Given the description of an element on the screen output the (x, y) to click on. 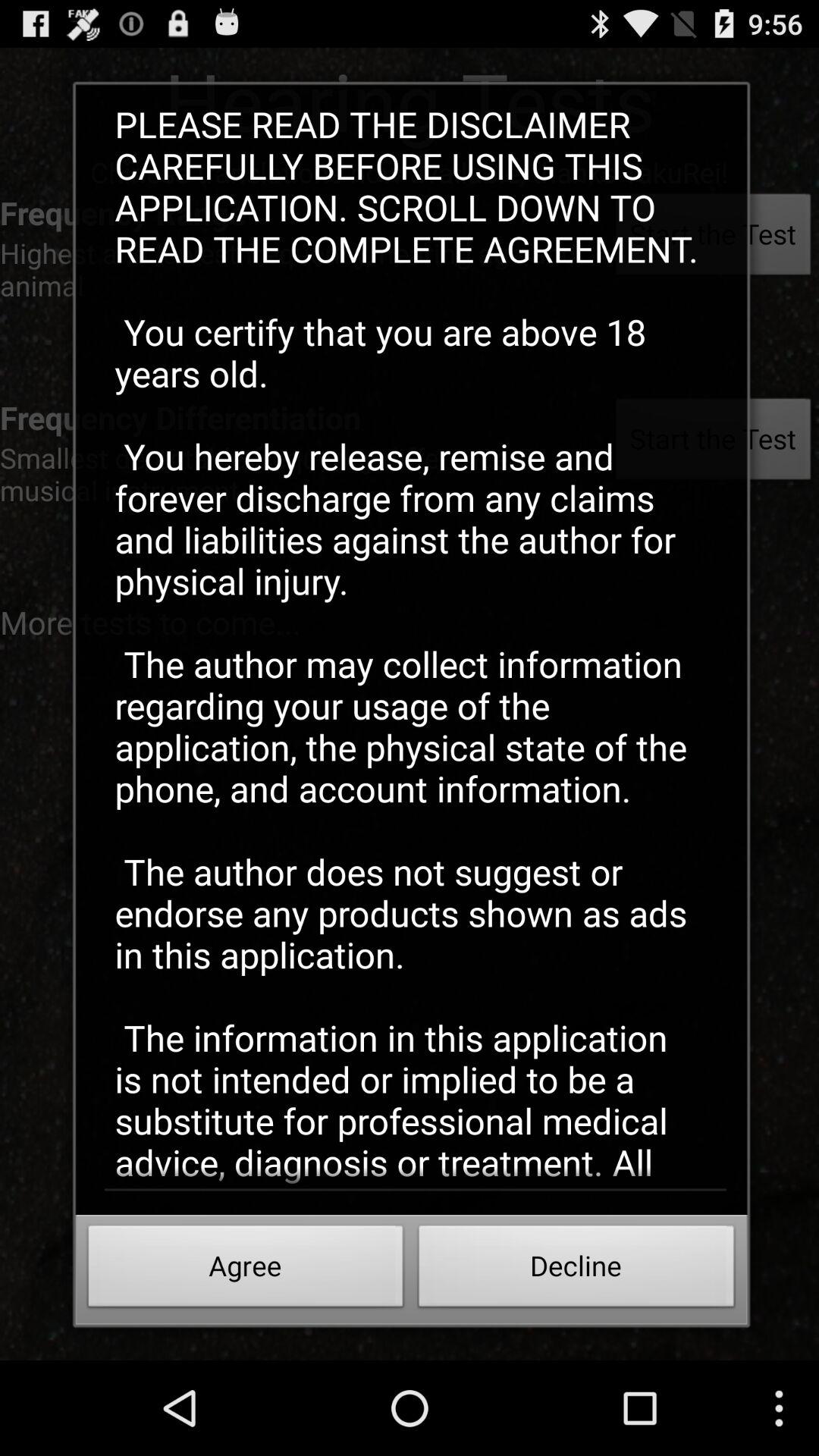
swipe to the decline (576, 1270)
